Given the description of an element on the screen output the (x, y) to click on. 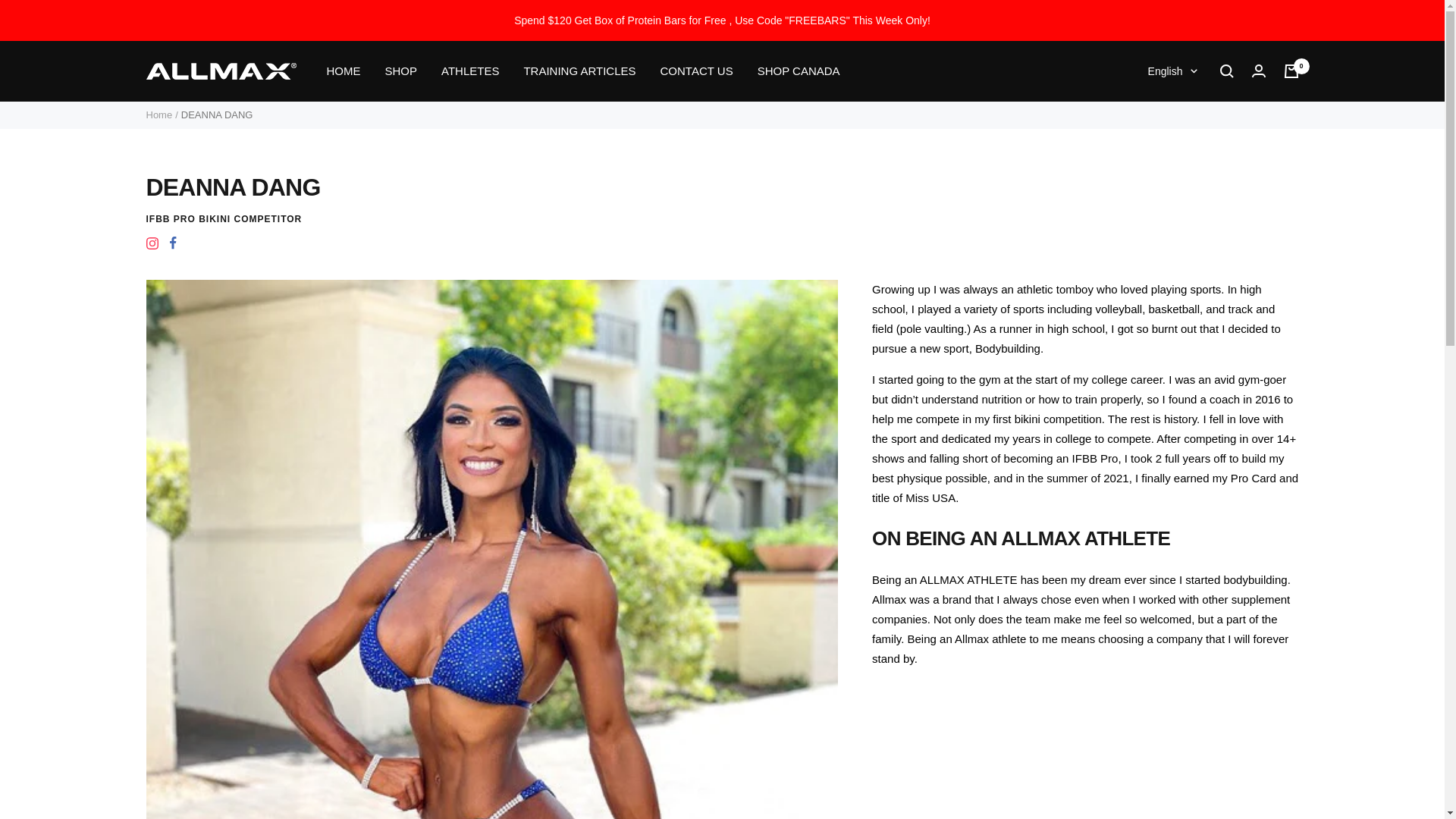
English (1172, 71)
es (1163, 148)
ATHLETES (470, 71)
Home (158, 114)
SHOP (401, 71)
0 (1290, 70)
TRAINING ARTICLES (578, 71)
en (1163, 123)
SHOP CANADA (798, 71)
HOME (342, 71)
